Given the description of an element on the screen output the (x, y) to click on. 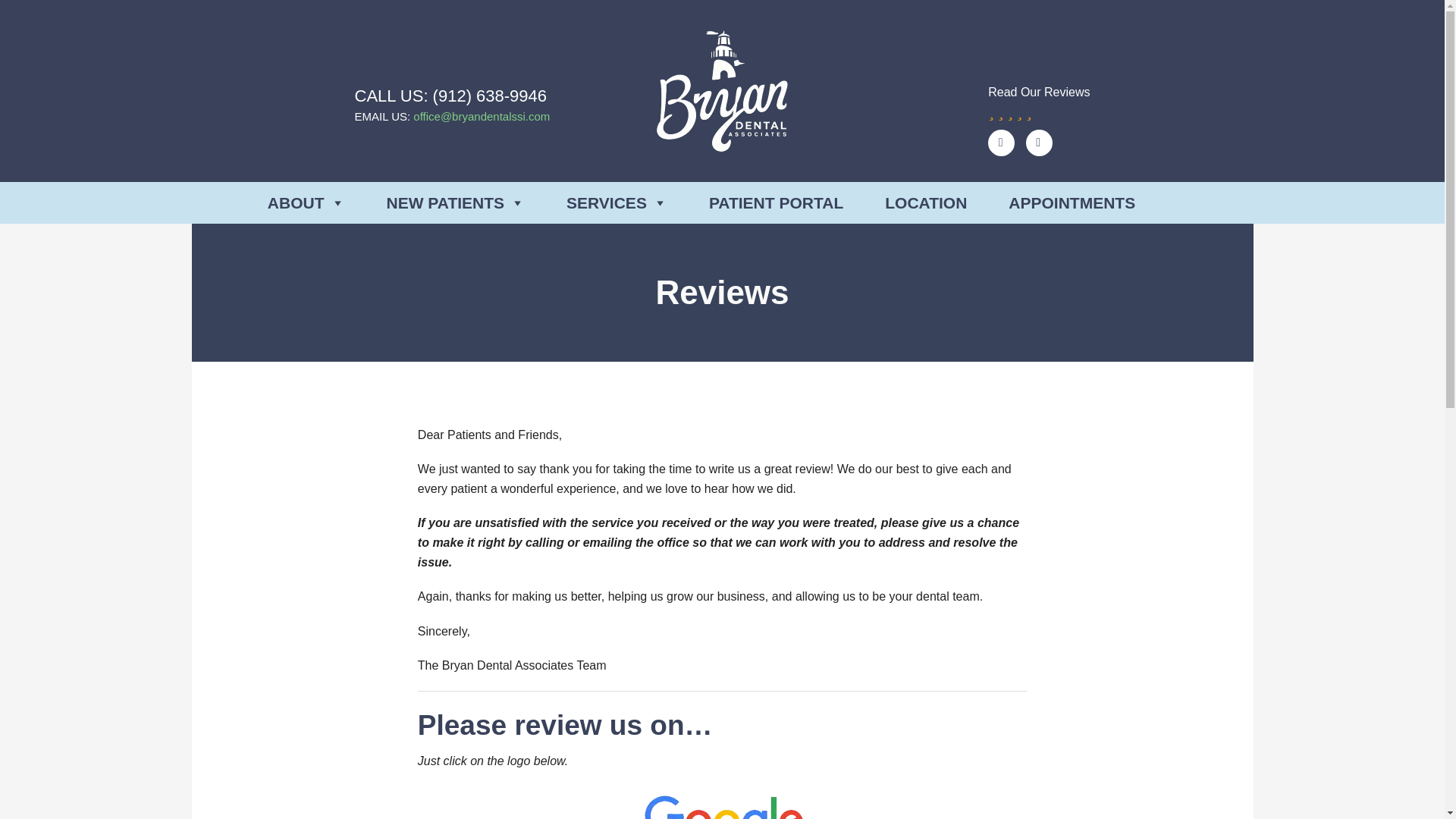
Read Our Reviews (1038, 100)
LOCATION (925, 202)
Facebook (1039, 142)
SERVICES (616, 202)
NEW PATIENTS (456, 202)
ABOUT (306, 202)
PATIENT PORTAL (776, 202)
APPOINTMENTS (1072, 202)
Google Maps (1001, 142)
